Given the description of an element on the screen output the (x, y) to click on. 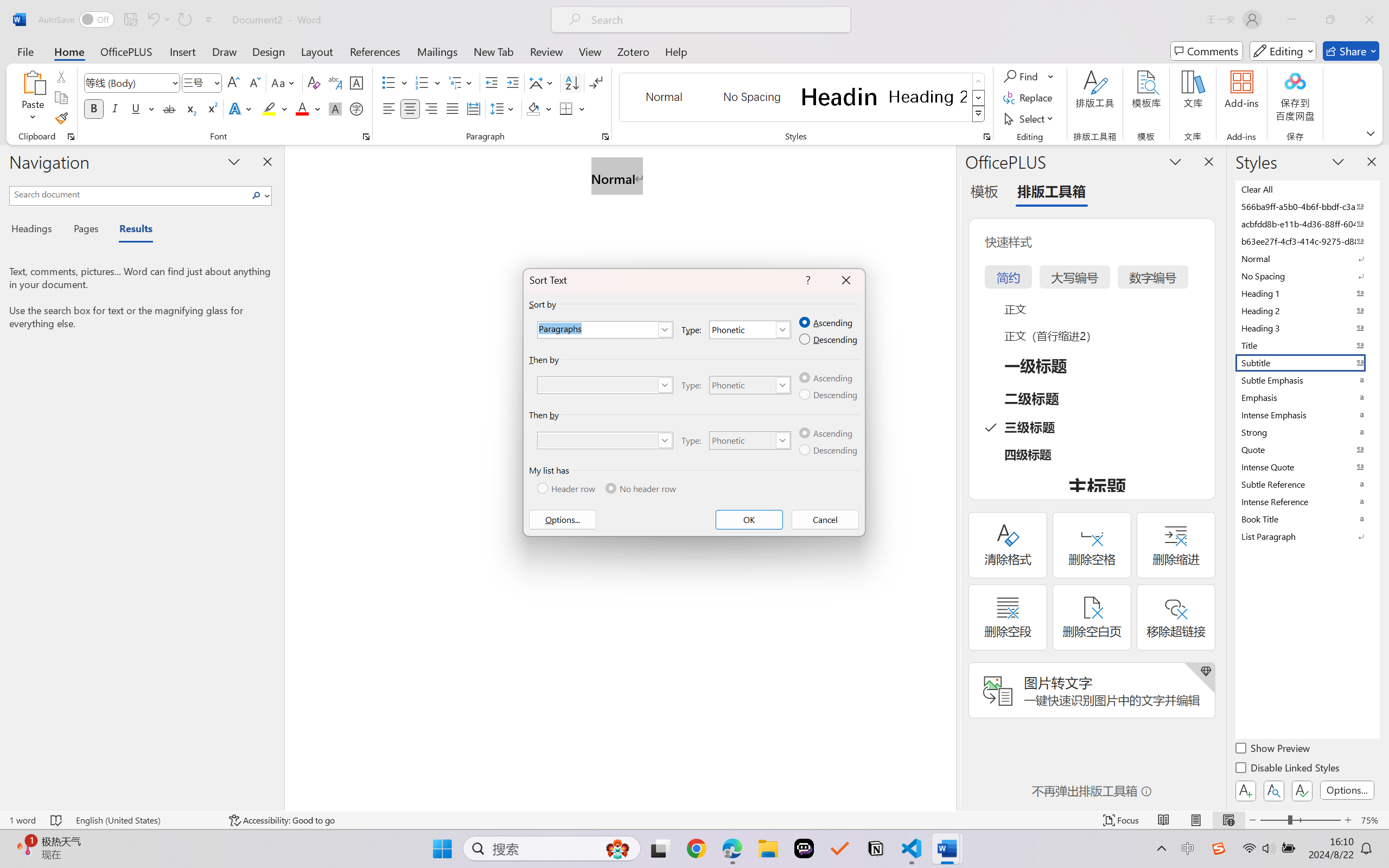
Italic (115, 108)
Format Painter (60, 118)
Numbering (428, 82)
Justify (452, 108)
Class: NetUIScrollBar (948, 477)
Asian Layout (542, 82)
Font Color Red (302, 108)
Mailings (437, 51)
Poe (804, 848)
